Given the description of an element on the screen output the (x, y) to click on. 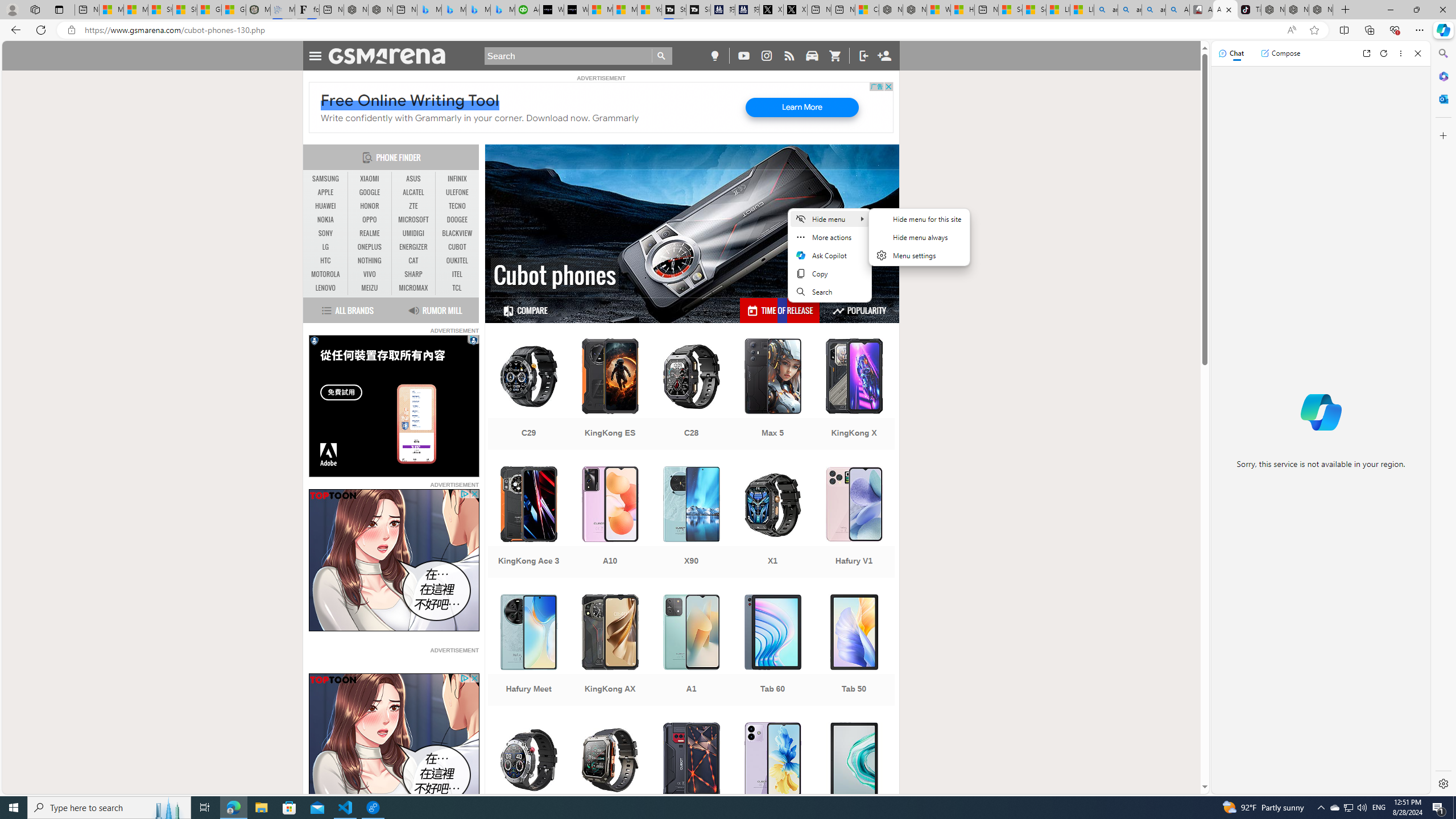
Microsoft Start Sports (600, 9)
Shanghai, China weather forecast | Microsoft Weather (184, 9)
BLACKVIEW (457, 233)
amazon - Search (1129, 9)
LENOVO (325, 287)
C29 (528, 395)
REALME (369, 233)
MICROMAX (413, 287)
MICROSOFT (413, 219)
HUAWEI (325, 205)
Gilma and Hector both pose tropical trouble for Hawaii (233, 9)
